Given the description of an element on the screen output the (x, y) to click on. 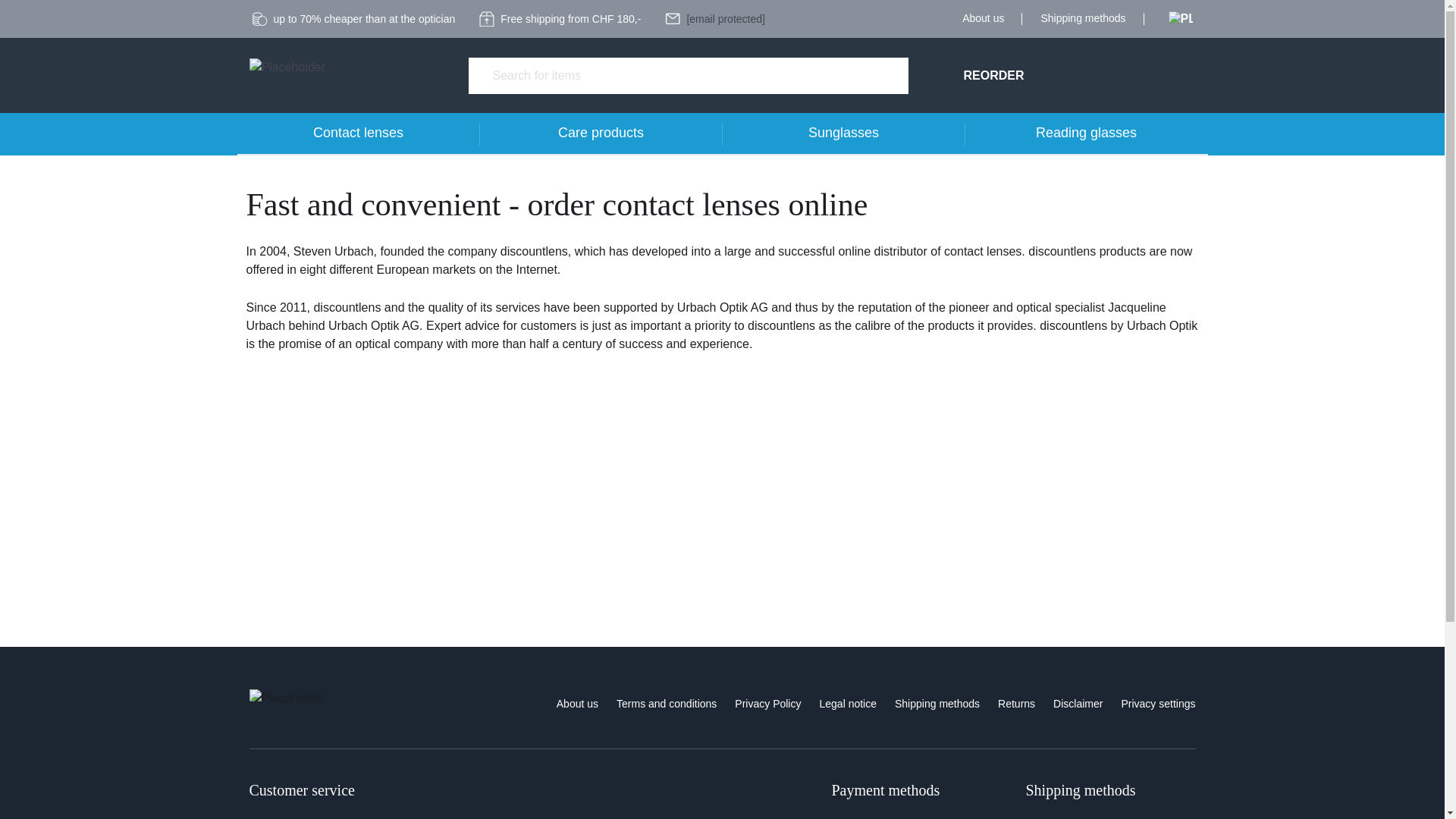
Shipping methods (1083, 18)
About us (983, 18)
Contact lenses (357, 134)
REORDER (993, 75)
